Given the description of an element on the screen output the (x, y) to click on. 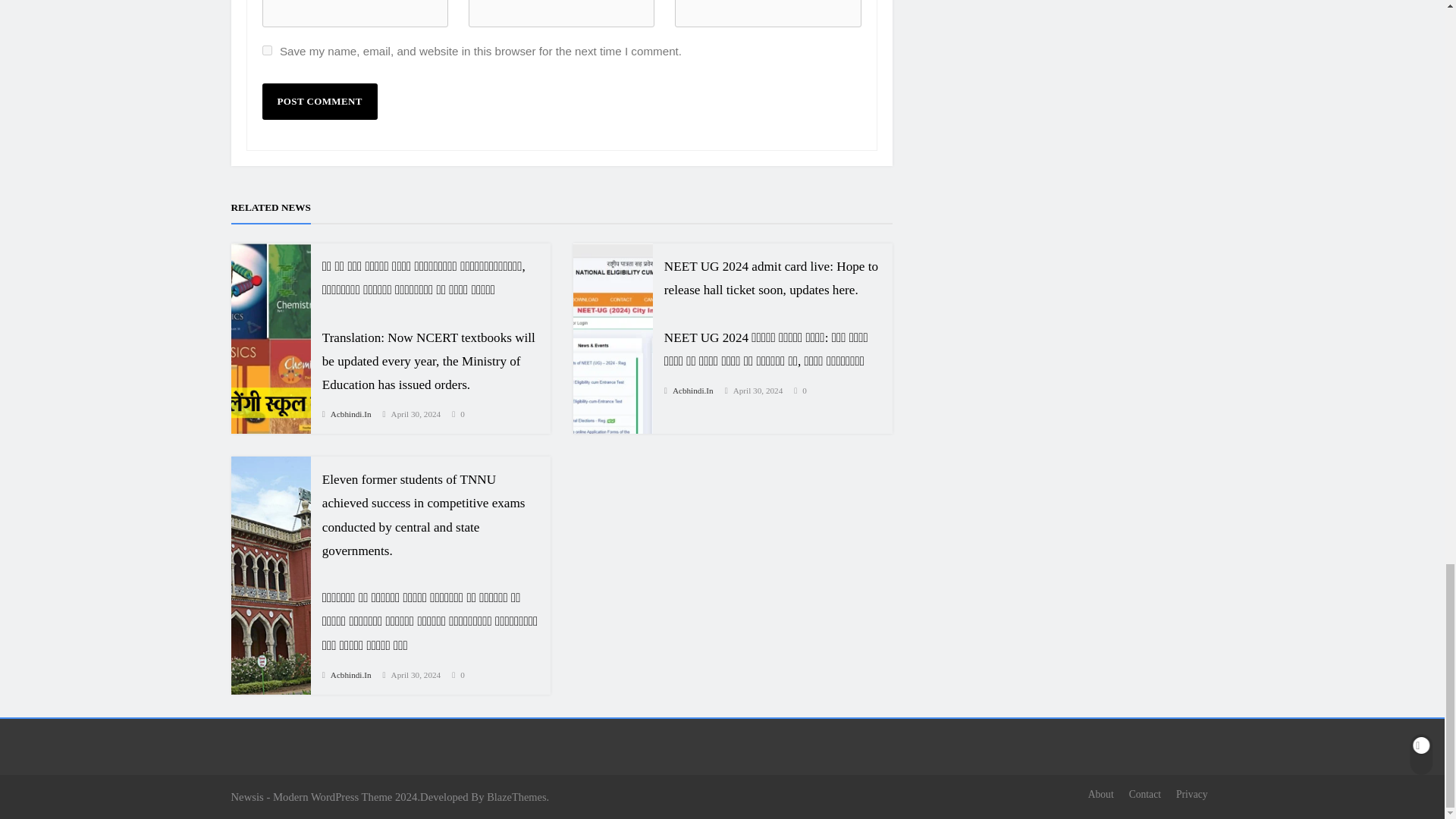
Post Comment (319, 101)
yes (267, 50)
